Given the description of an element on the screen output the (x, y) to click on. 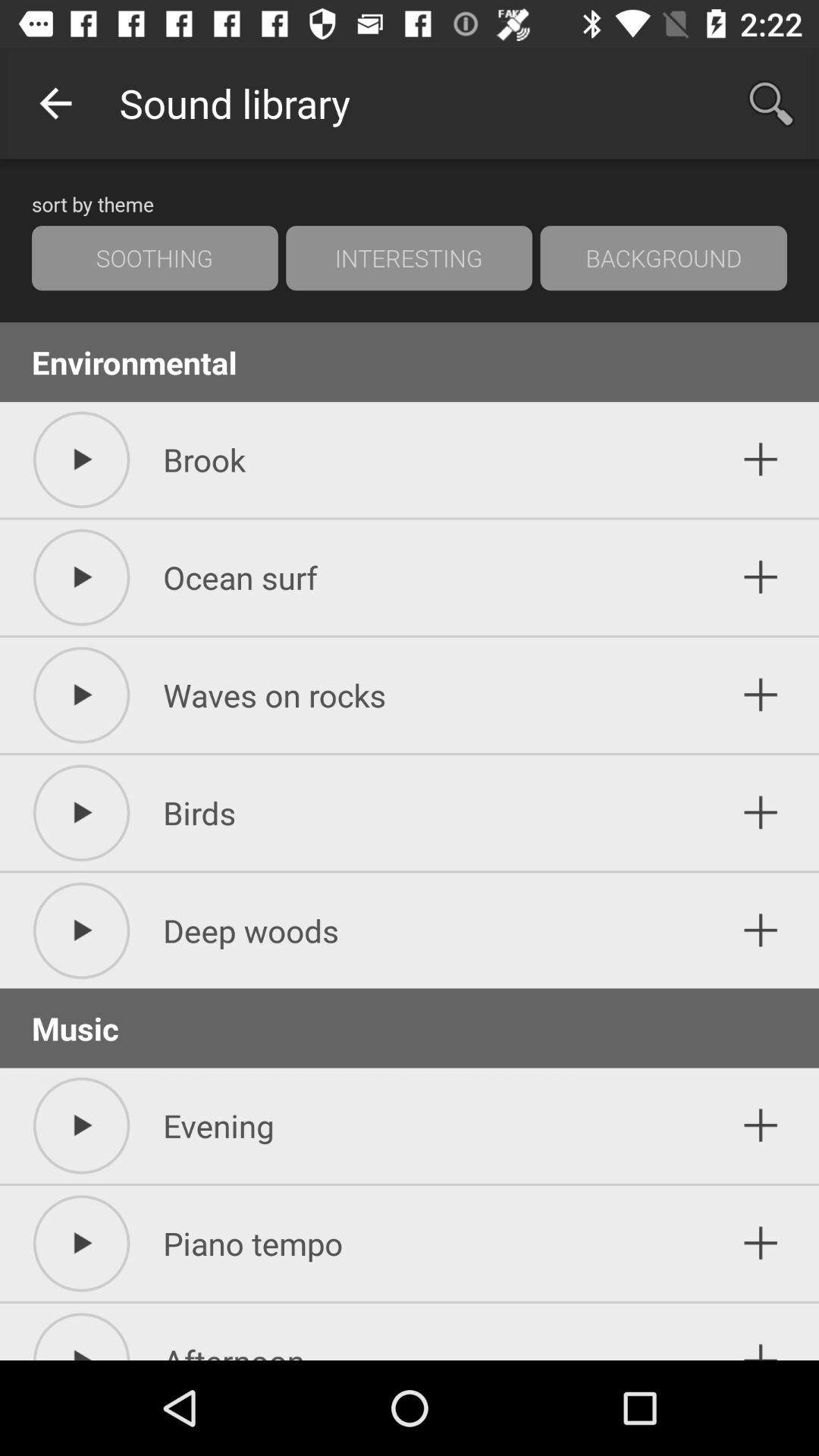
add button (761, 459)
